Given the description of an element on the screen output the (x, y) to click on. 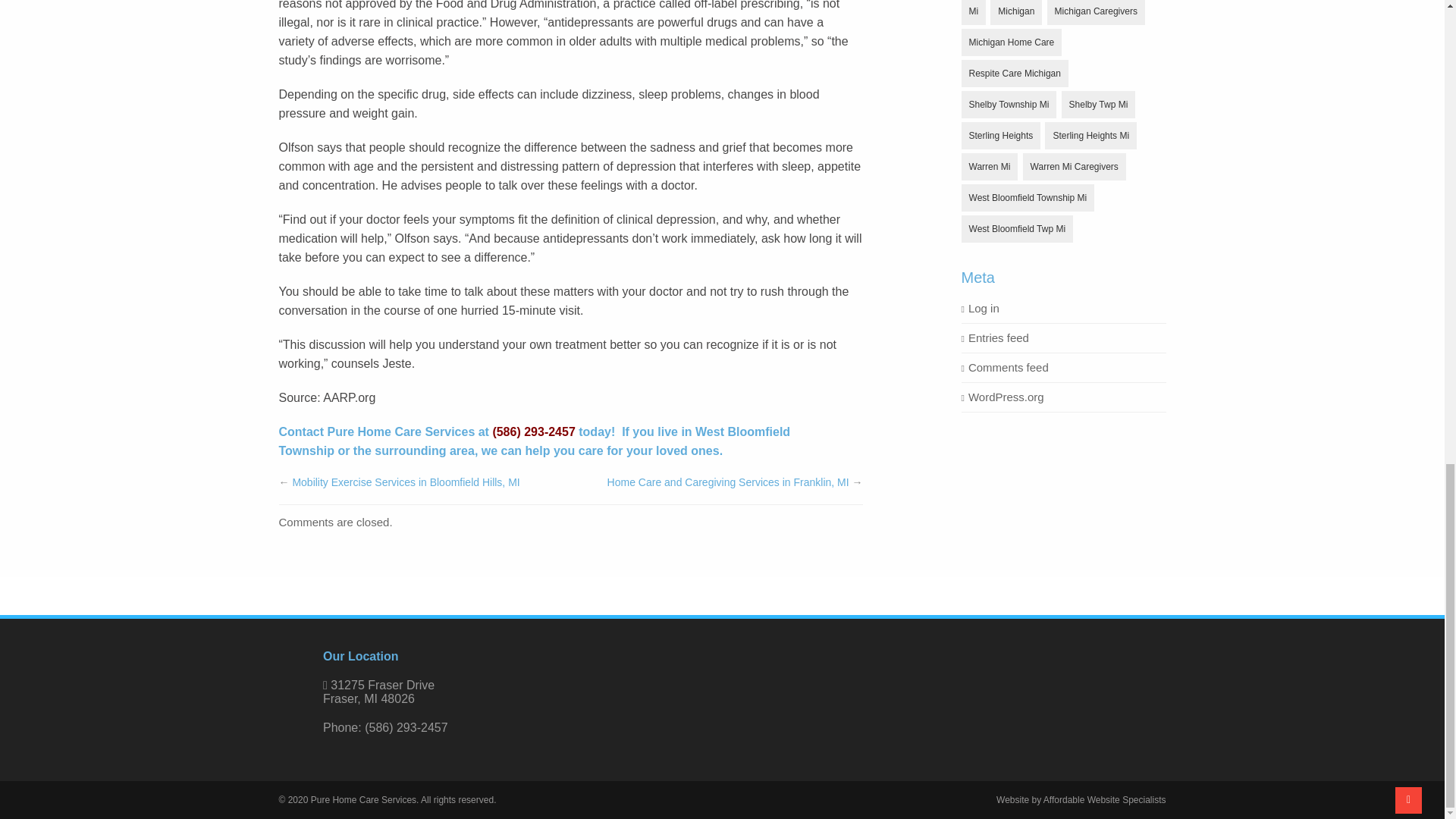
Mobility Exercise Services in Bloomfield Hills, MI (405, 481)
Home Care and Caregiving Services in Franklin, MI (727, 481)
Affordable Website Specialists (1104, 799)
